Given the description of an element on the screen output the (x, y) to click on. 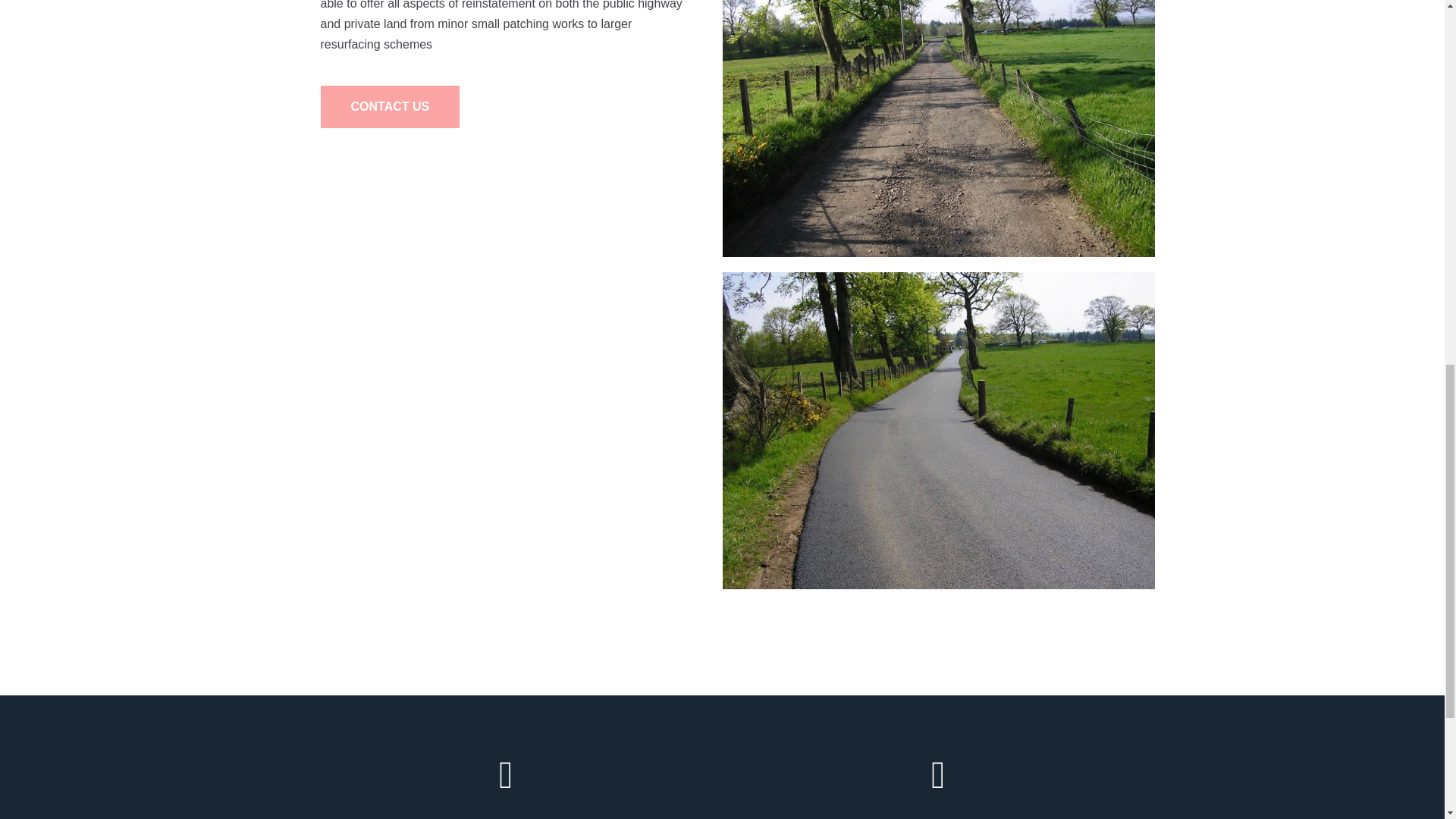
CONTACT US (390, 106)
